Given the description of an element on the screen output the (x, y) to click on. 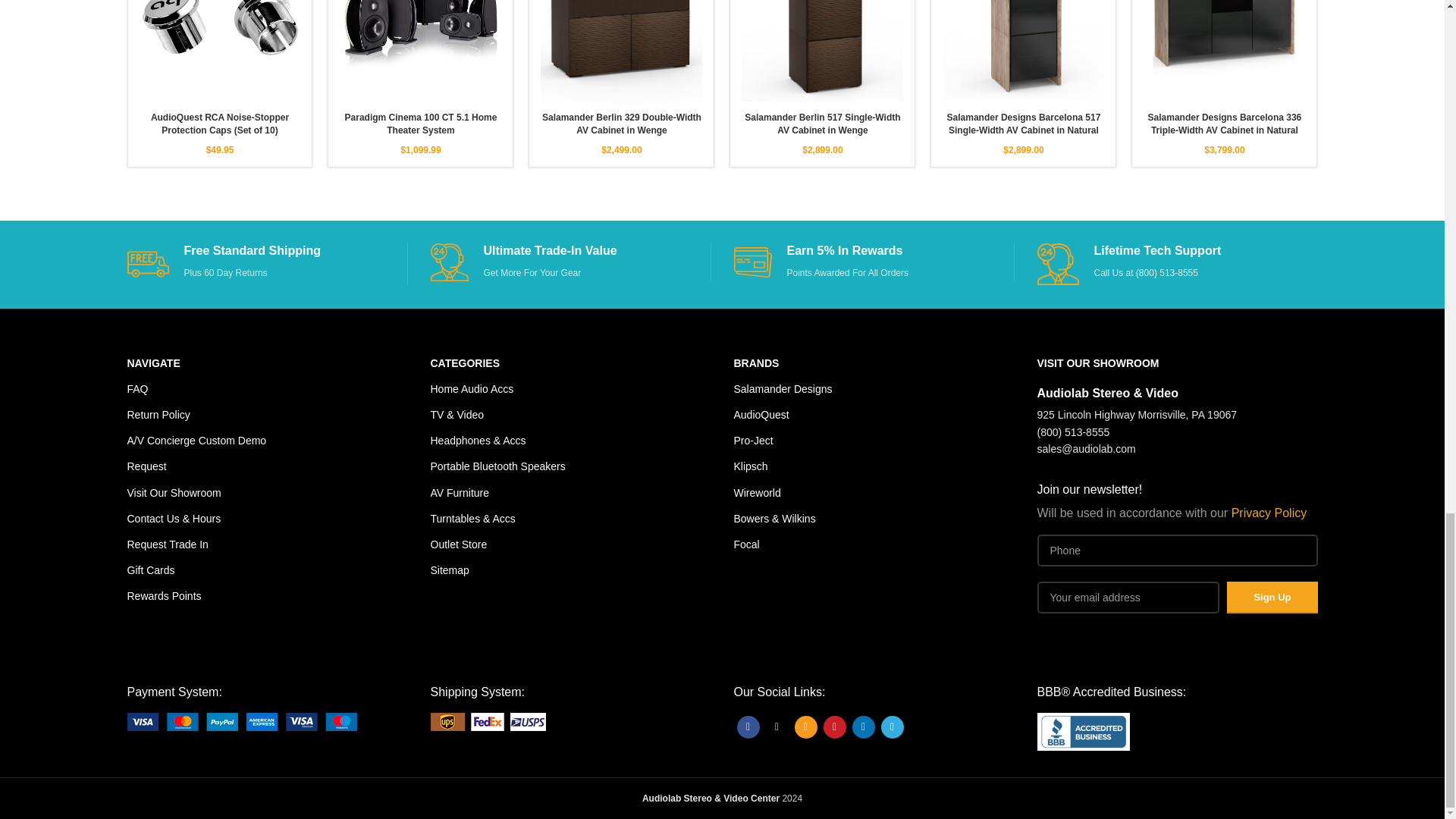
Sign up (1272, 597)
